Given the description of an element on the screen output the (x, y) to click on. 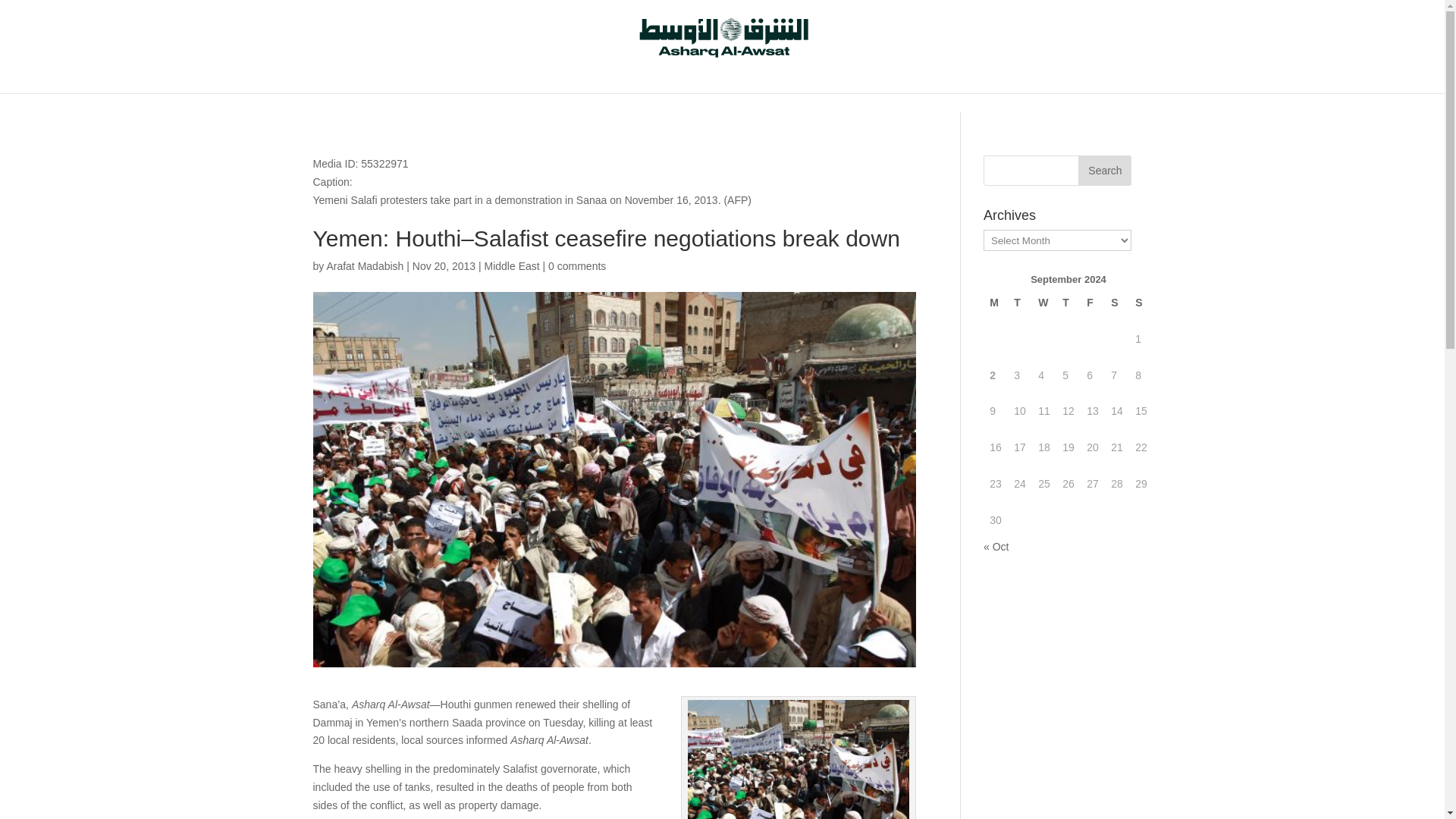
Posts by Arafat Madabish (364, 265)
0 comments (576, 265)
Arafat Madabish (364, 265)
Search (1104, 170)
Middle East (510, 265)
Search (1104, 170)
